Given the description of an element on the screen output the (x, y) to click on. 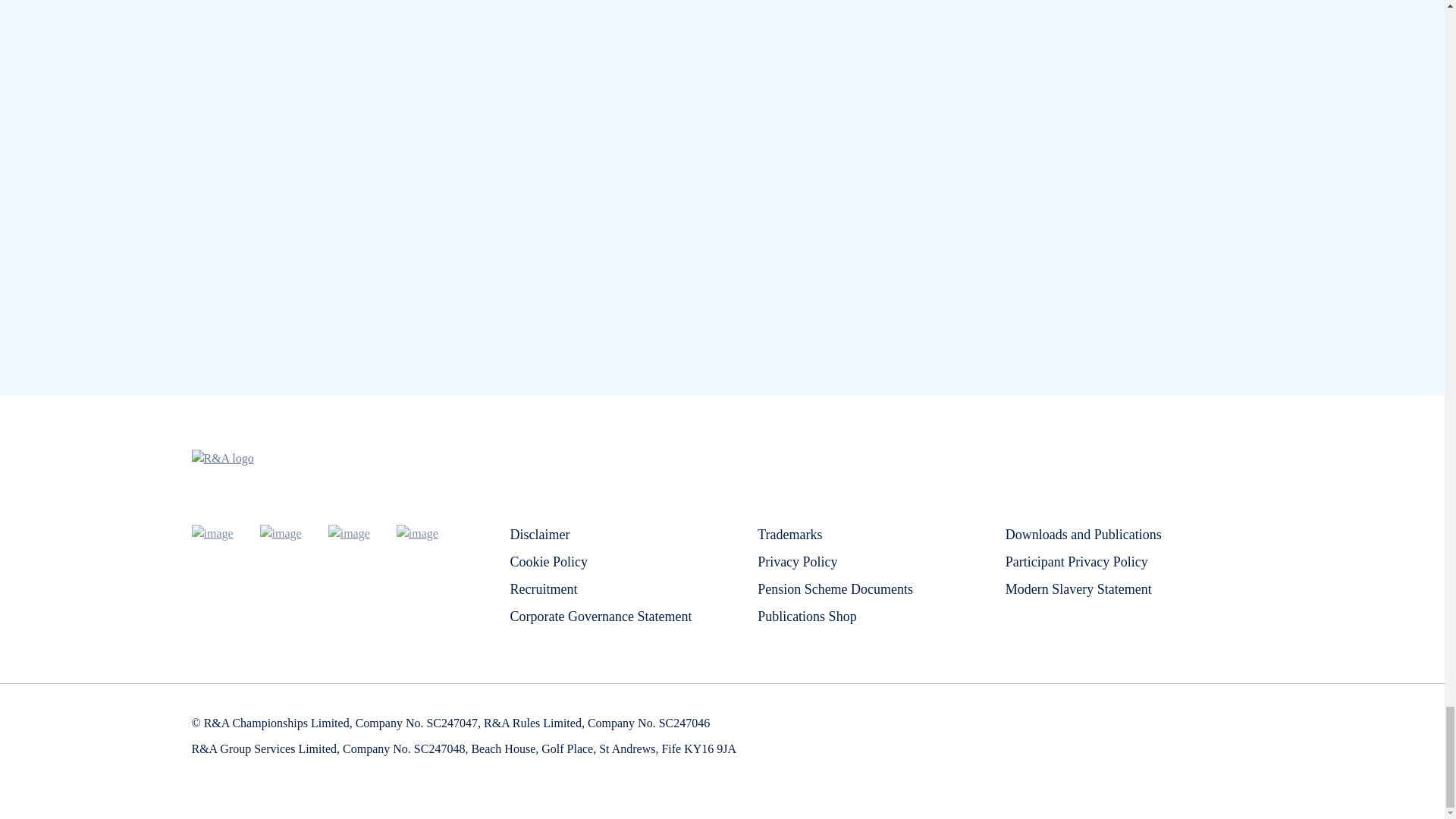
Disclaimer (539, 534)
Privacy Policy (797, 561)
Cookie Policy (548, 561)
Downloads and Publications (1083, 534)
Trademarks (789, 534)
